Given the description of an element on the screen output the (x, y) to click on. 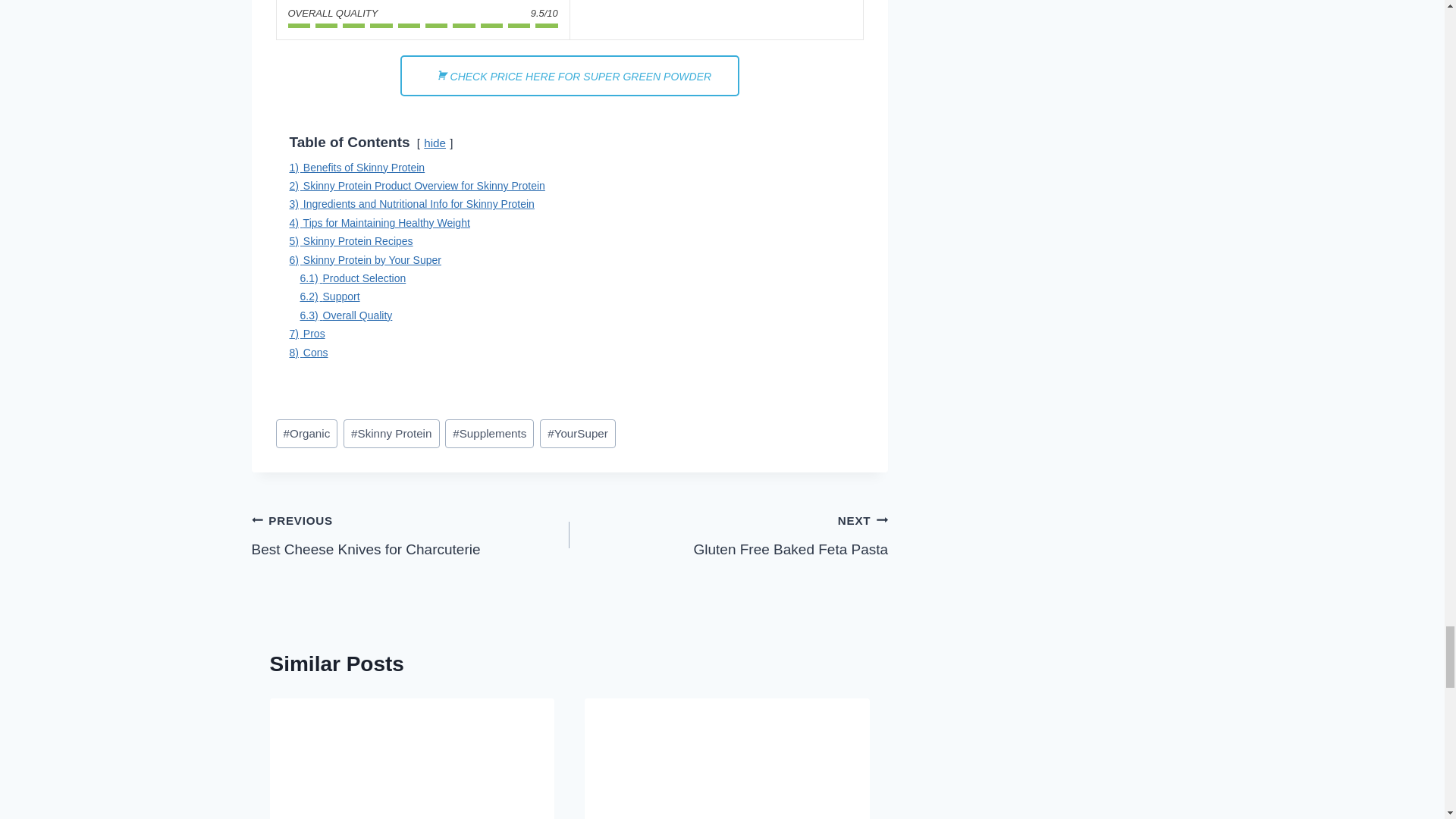
Supplements (489, 433)
Skinny Protein (391, 433)
Organic (306, 433)
YourSuper (577, 433)
